Given the description of an element on the screen output the (x, y) to click on. 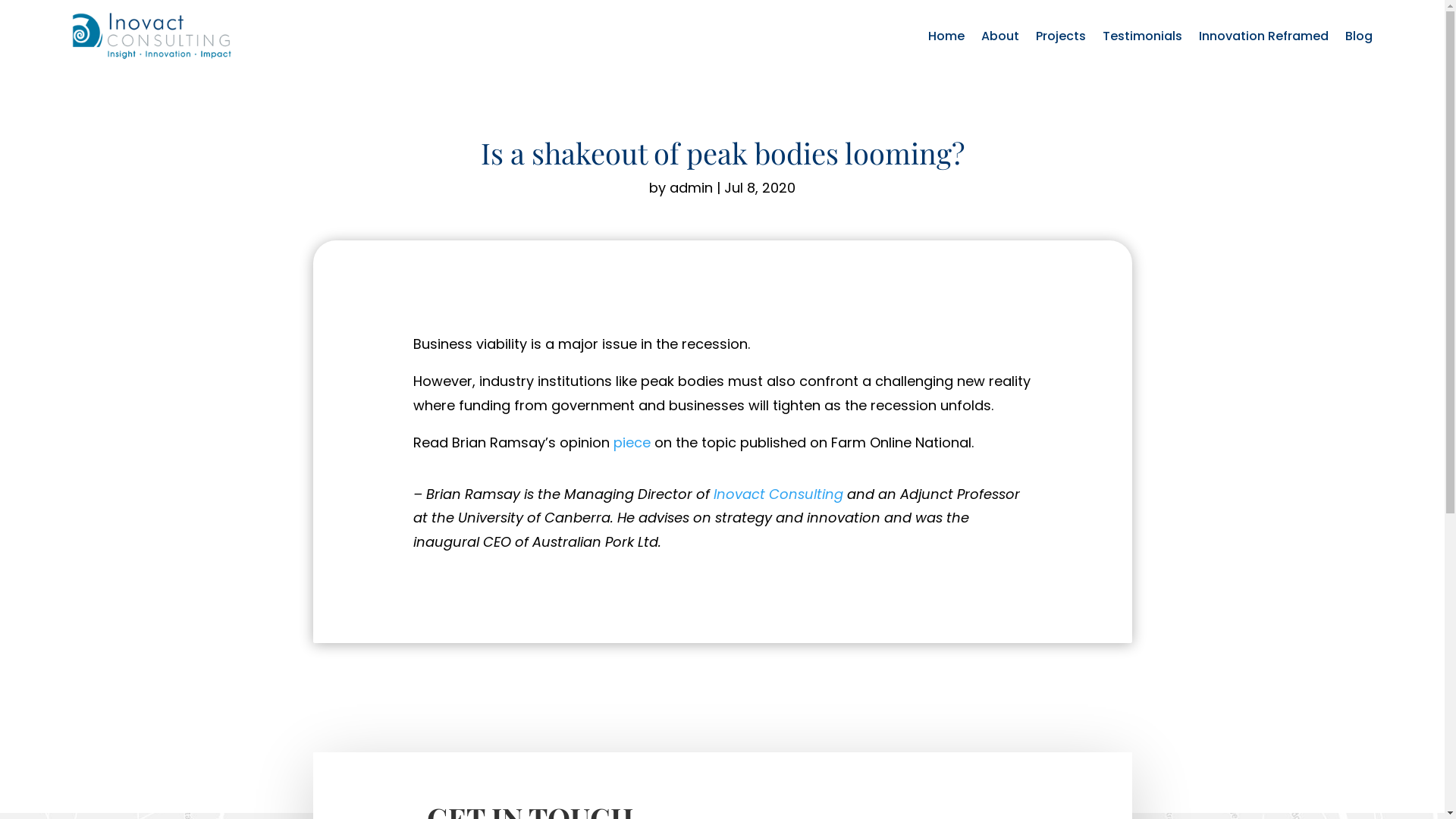
Projects Element type: text (1060, 36)
Inovact Consulting Element type: text (777, 493)
Blog Element type: text (1358, 36)
piece Element type: text (630, 442)
Innovation Reframed Element type: text (1263, 36)
Home Element type: text (946, 36)
About Element type: text (1000, 36)
admin Element type: text (690, 187)
Testimonials Element type: text (1142, 36)
